Given the description of an element on the screen output the (x, y) to click on. 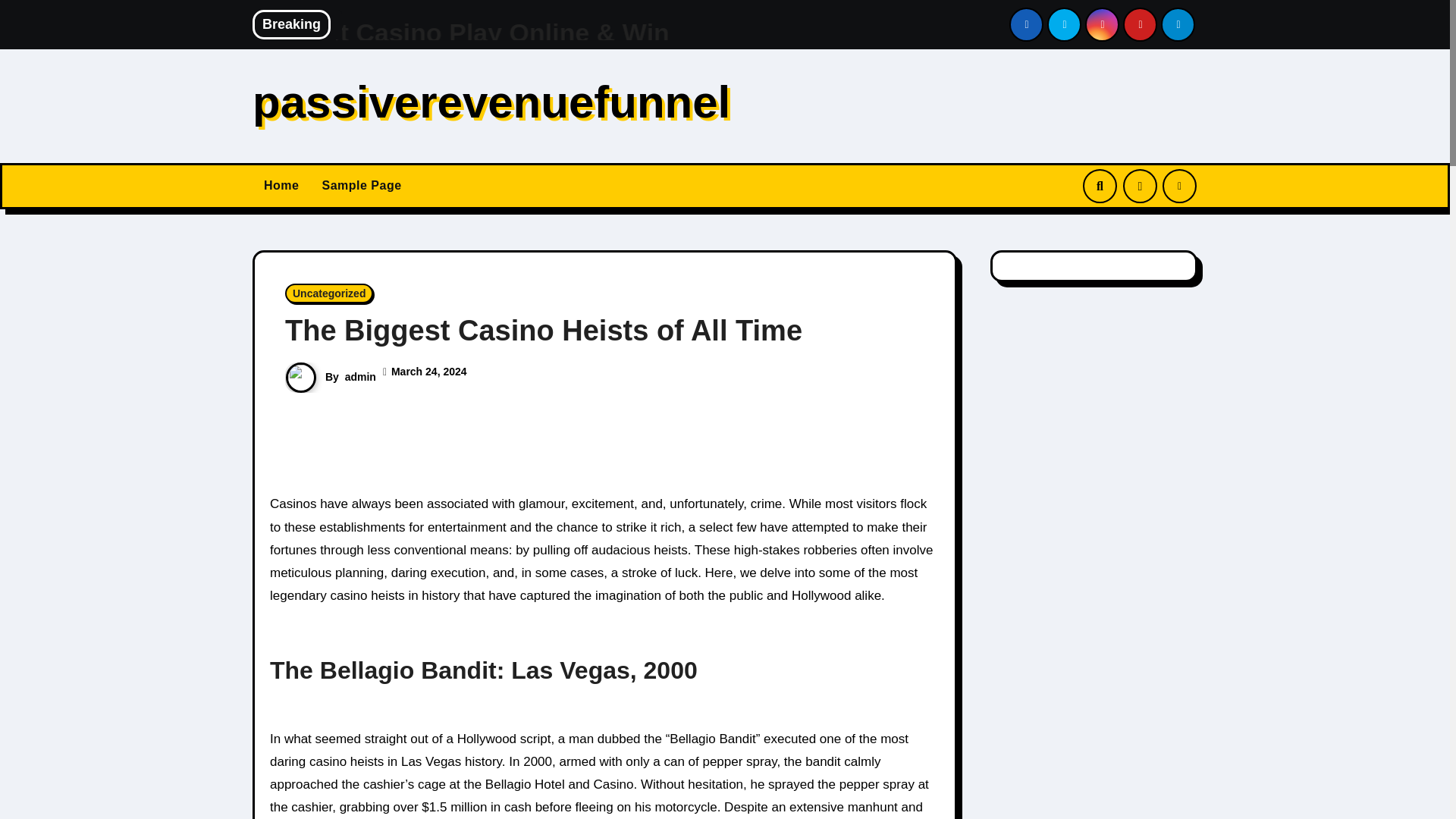
Home (280, 185)
admin (360, 376)
Uncategorized (328, 293)
passiverevenuefunnel (490, 101)
The Biggest Casino Heists of All Time (543, 330)
Sample Page (361, 185)
March 24, 2024 (429, 371)
Home (280, 185)
Permalink to: The Biggest Casino Heists of All Time (543, 330)
